Given the description of an element on the screen output the (x, y) to click on. 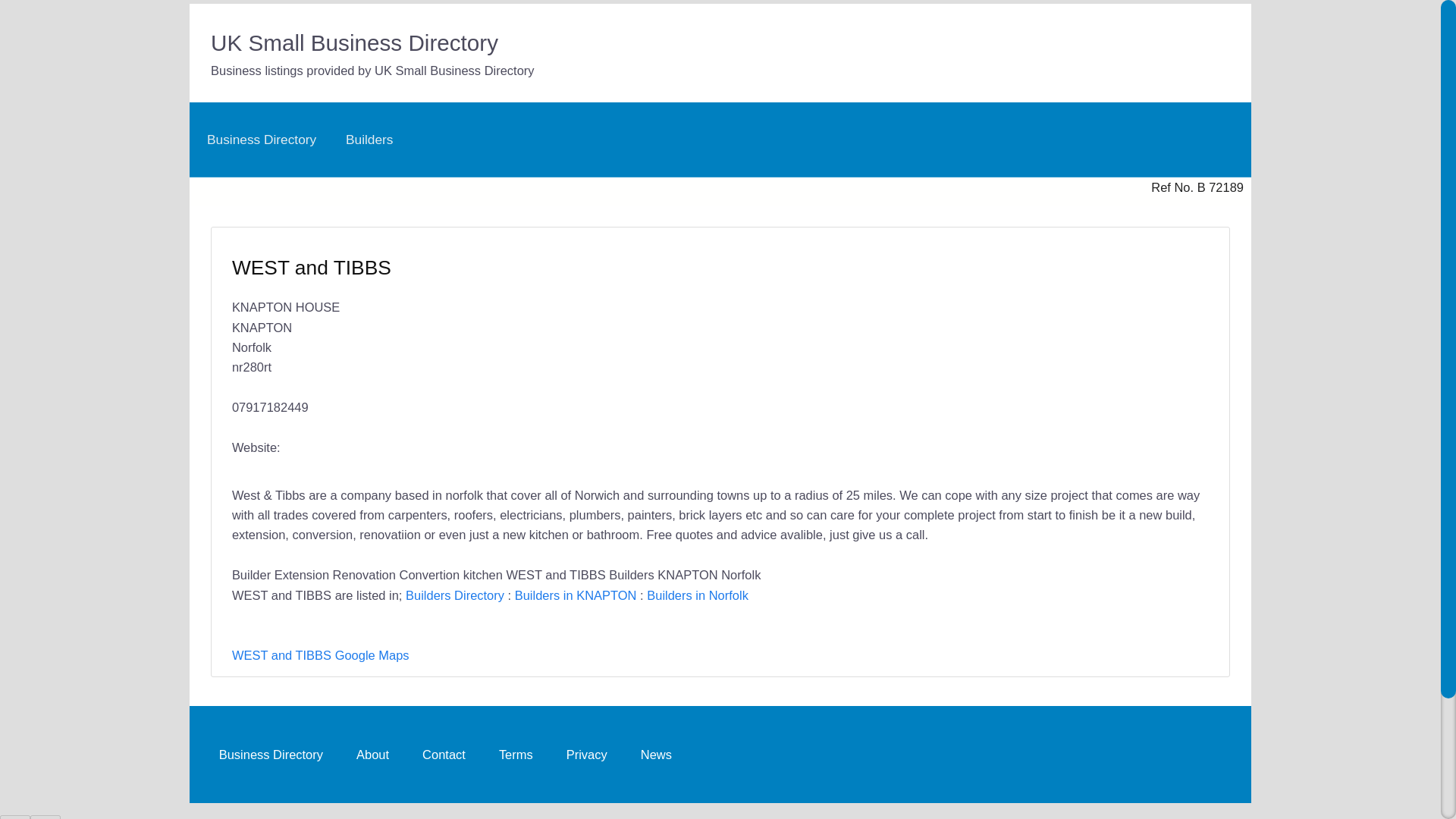
WEST and TIBBS Google Maps (320, 654)
Terms (515, 754)
News (656, 754)
Contact (444, 754)
About (372, 754)
Builders Directory (454, 594)
Builders in Norfolk (697, 594)
Privacy (586, 754)
Business Directory (270, 754)
Builders in KNAPTON (576, 594)
Business Directory (261, 139)
Builders (369, 139)
Advertisement (956, 345)
